Given the description of an element on the screen output the (x, y) to click on. 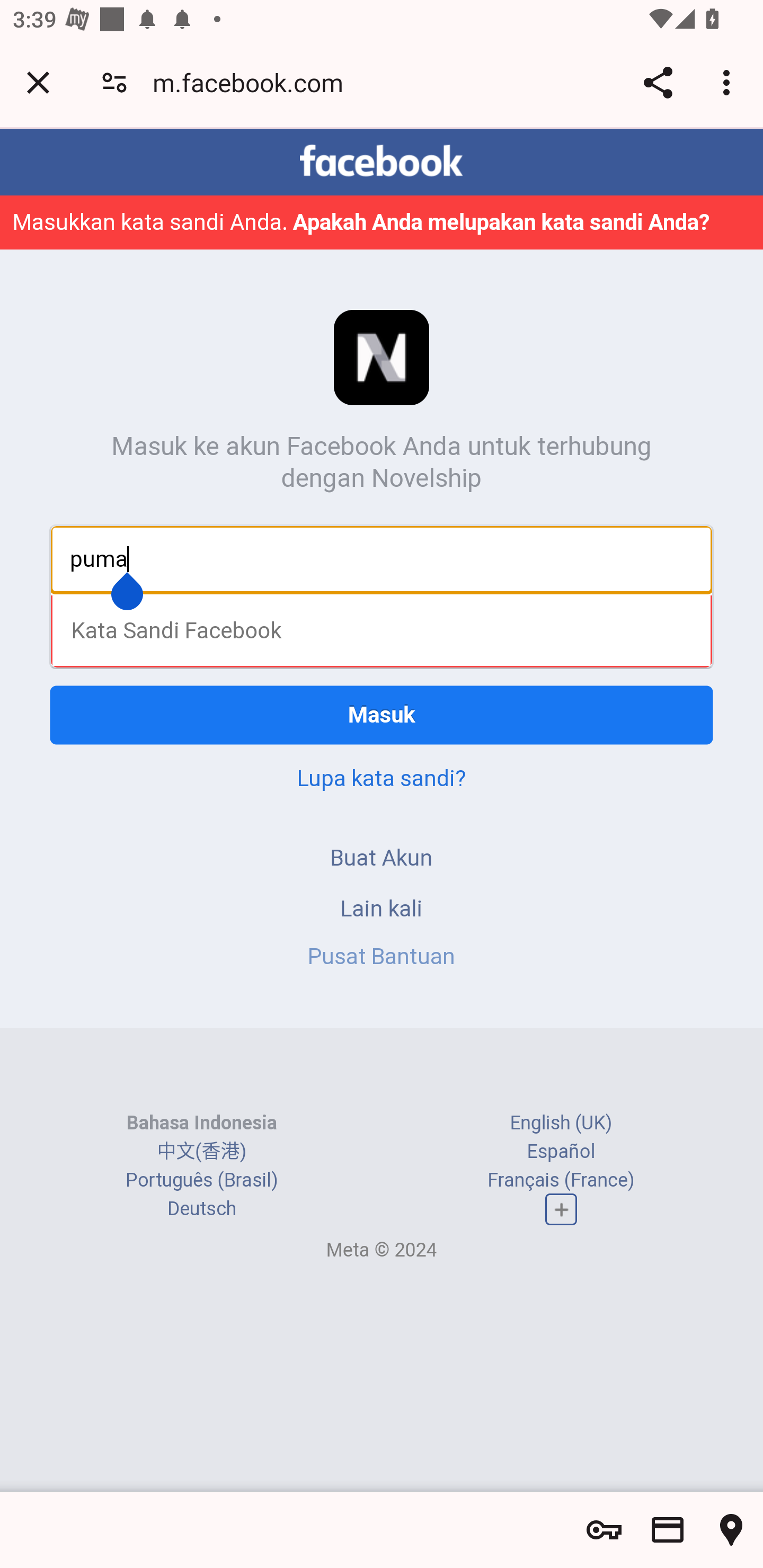
Close tab (38, 82)
Share (657, 82)
Customize and control Google Chrome (729, 82)
Connection is secure (114, 81)
m.facebook.com (254, 81)
facebook (381, 160)
Apakah Anda melupakan kata sandi Anda? (501, 221)
puma (381, 558)
Masuk (381, 714)
Lupa kata sandi? (381, 778)
Buat Akun (381, 856)
Lain kali (381, 908)
Pusat Bantuan (381, 955)
English (UK) (560, 1122)
中文(香港) (201, 1151)
Español (560, 1151)
Português (Brasil) (201, 1179)
Français (France) (560, 1179)
Daftar bahasa lengkap (560, 1208)
Deutsch (201, 1207)
Show saved passwords and password options (603, 1530)
Show saved payment methods (667, 1530)
Show saved addresses (731, 1530)
